Given the description of an element on the screen output the (x, y) to click on. 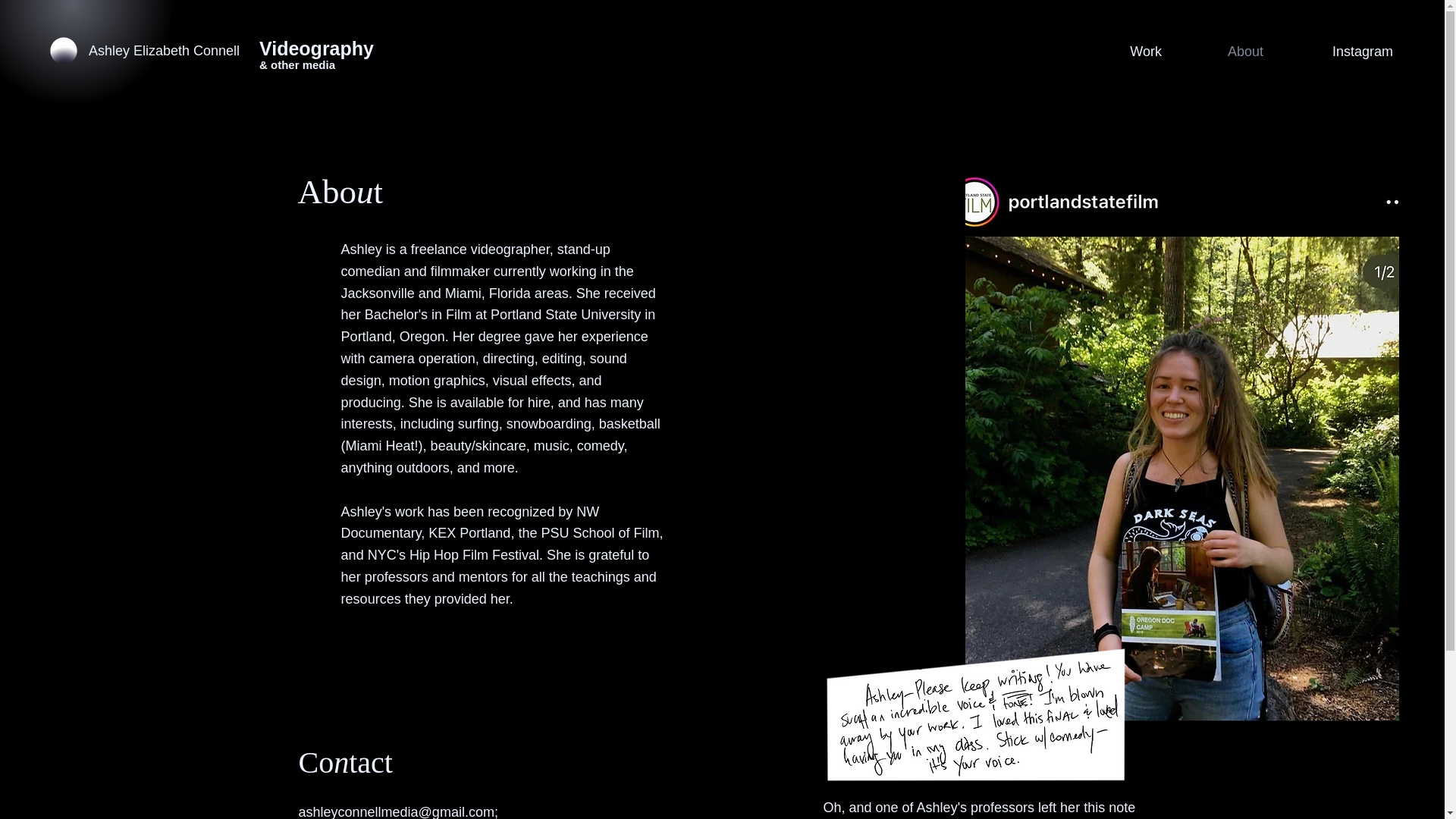
Instagram (1340, 51)
About (1224, 51)
Work (1126, 51)
Ashley Elizabeth Connell                                    (230, 50)
